Given the description of an element on the screen output the (x, y) to click on. 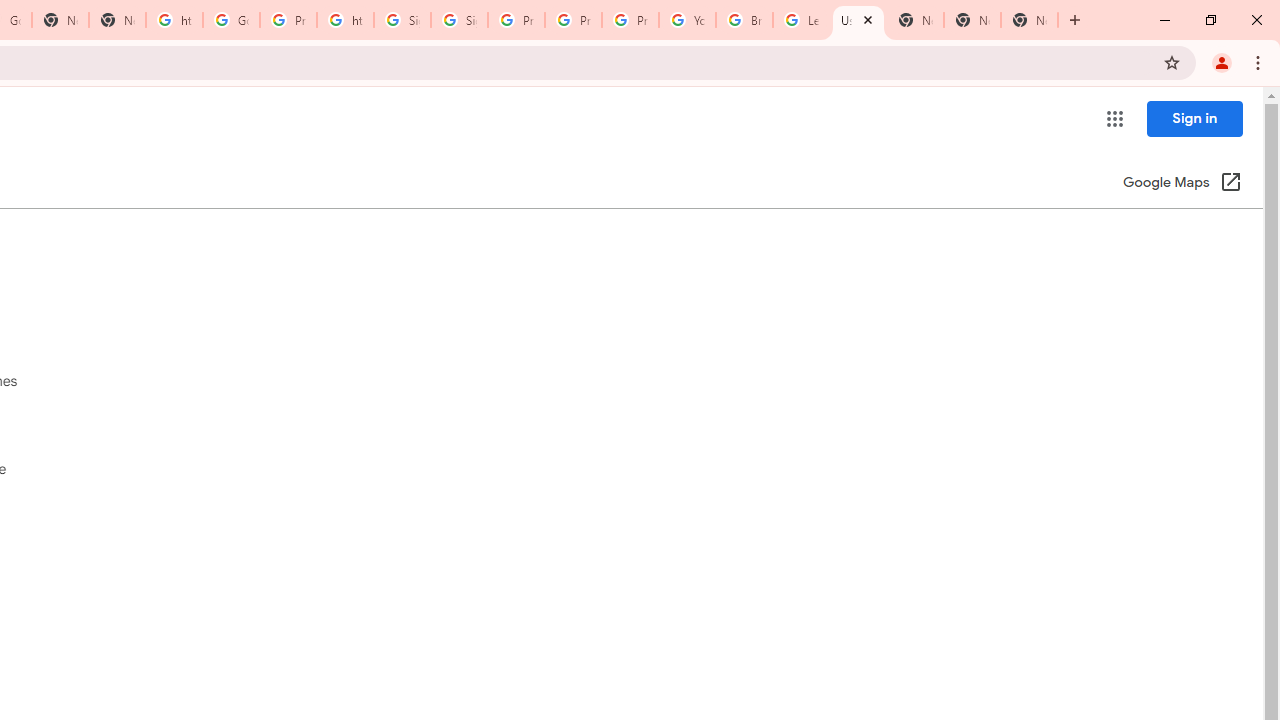
You (1221, 62)
YouTube (687, 20)
Google apps (1114, 118)
New Tab (971, 20)
Privacy Help Center - Policies Help (516, 20)
Chrome (1260, 62)
Minimize (1165, 20)
Bookmark this tab (1171, 62)
Privacy Help Center - Policies Help (573, 20)
Close (867, 19)
New Tab (1075, 20)
Google Maps (Open in a new window) (1182, 183)
Restore (1210, 20)
